Given the description of an element on the screen output the (x, y) to click on. 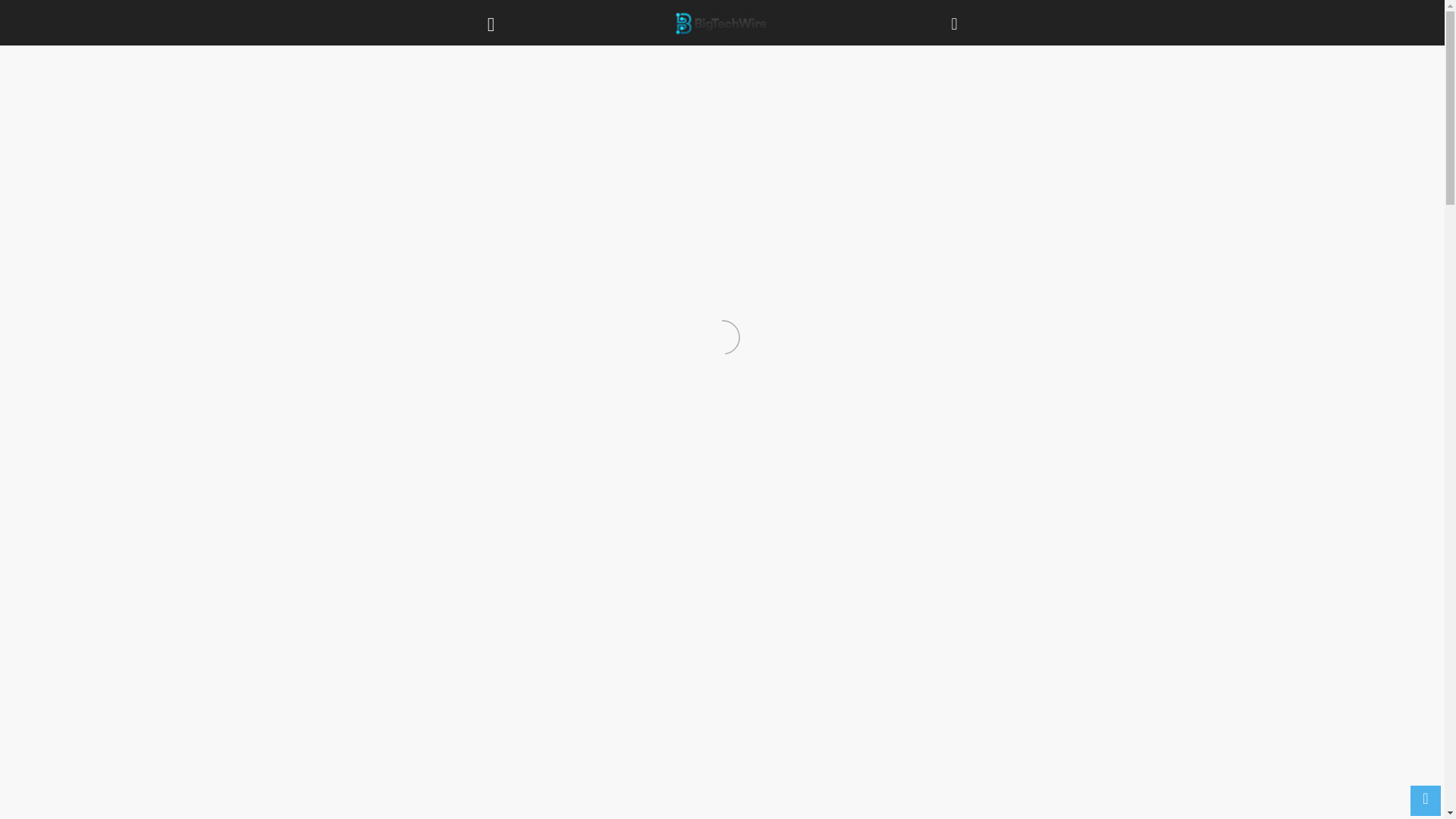
Pradeep Viswanathan (529, 167)
WhatsApp (773, 523)
Xbox (529, 84)
BigTechWire (721, 22)
View all posts in Microsoft (526, 61)
BigTechWire (722, 22)
Pinterest (737, 523)
Facebook (665, 523)
Twitter (702, 523)
Home (480, 61)
Microsoft (489, 84)
Microsoft (526, 61)
